Given the description of an element on the screen output the (x, y) to click on. 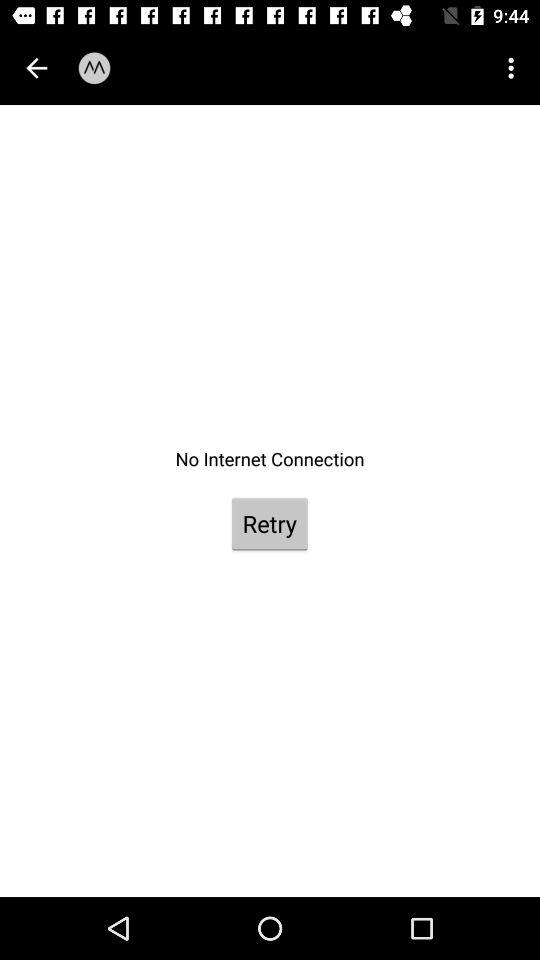
launch the item below no internet connection icon (269, 523)
